Given the description of an element on the screen output the (x, y) to click on. 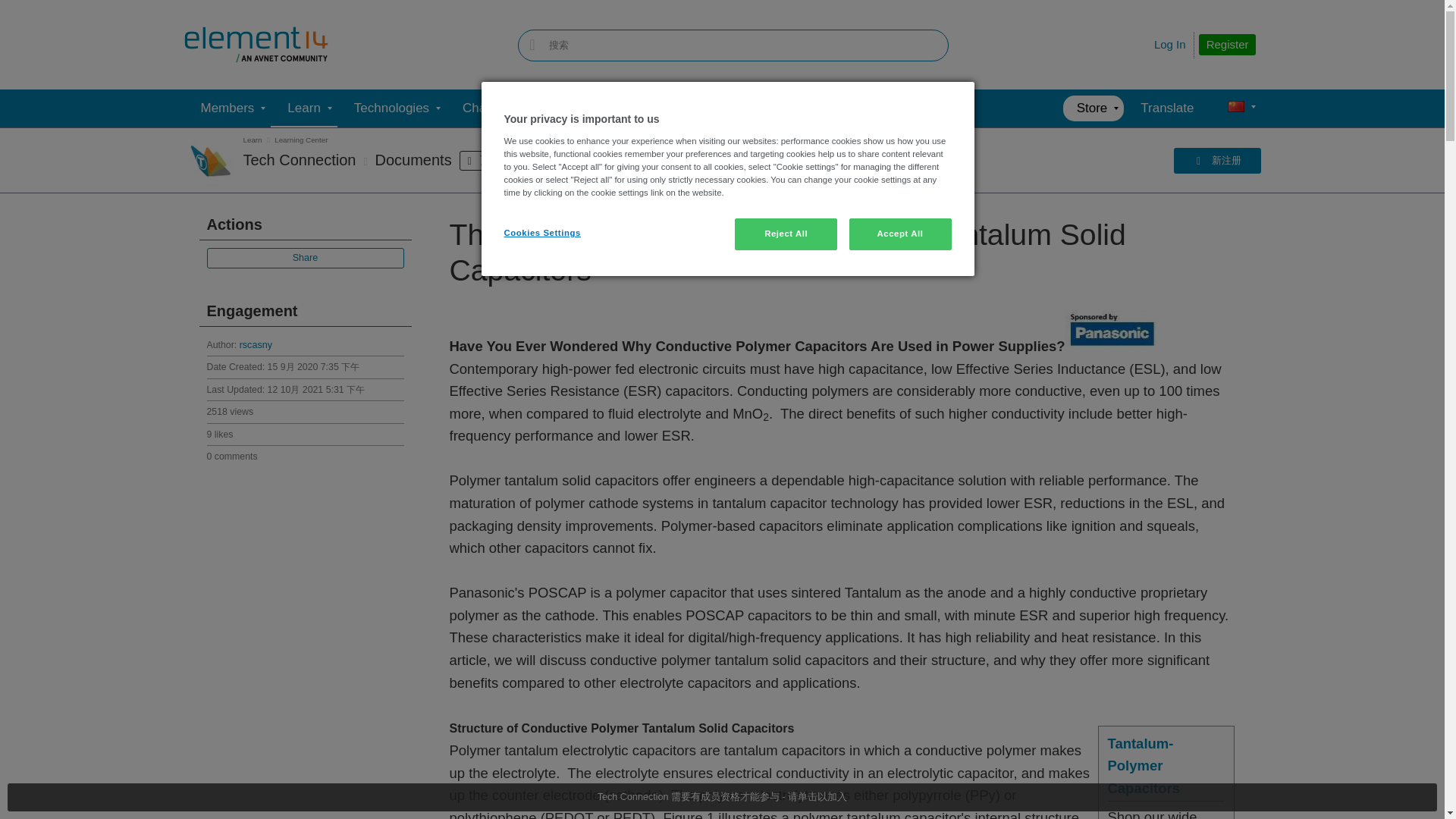
Log In (1170, 44)
Register (1226, 44)
Learn (303, 108)
Register (1226, 44)
Technologies (391, 108)
Log In (1170, 44)
Members (226, 108)
